Given the description of an element on the screen output the (x, y) to click on. 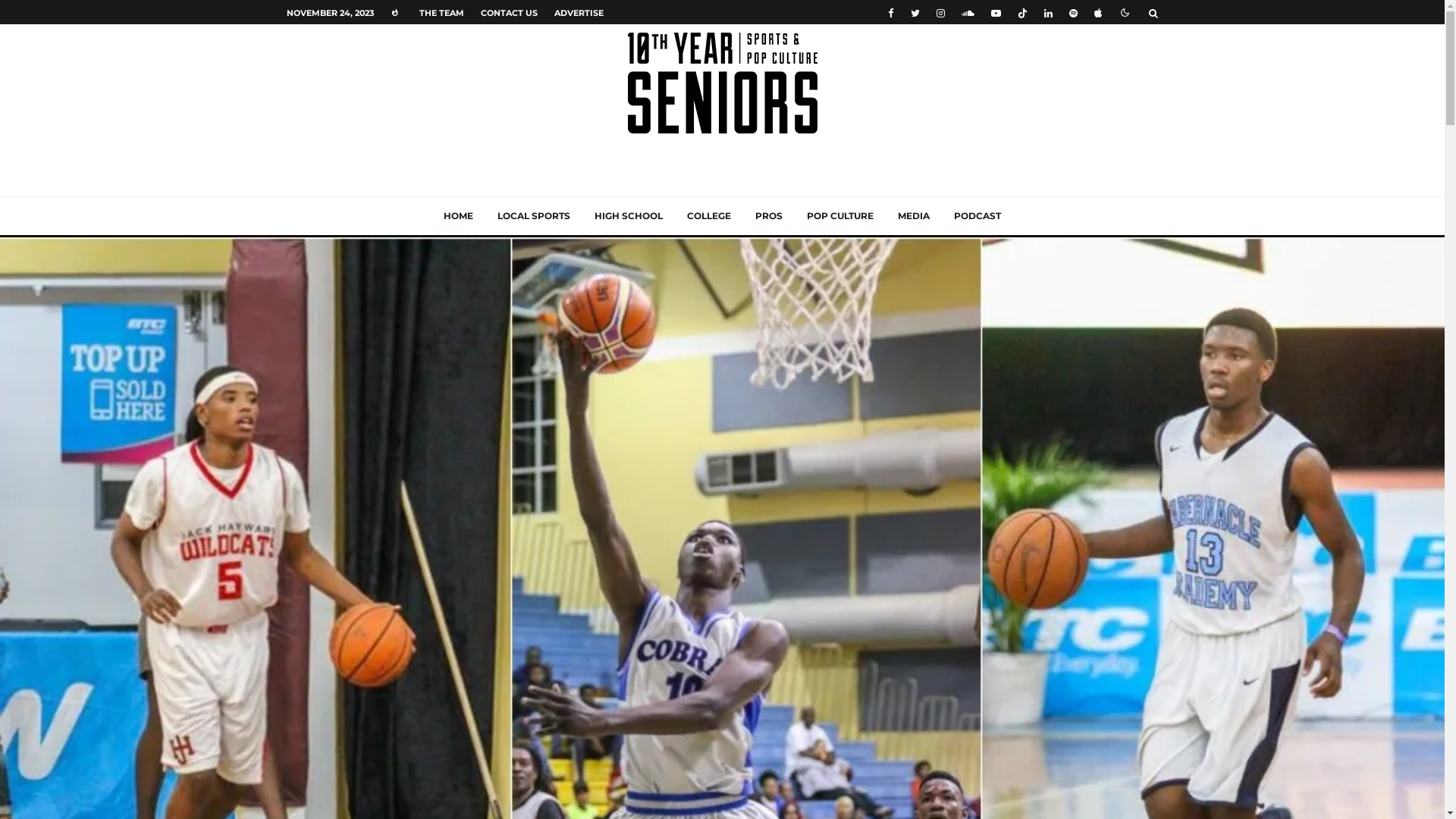
ADVERTISE Element type: text (578, 12)
HIGH SCHOOL Element type: text (628, 216)
COLLEGE Element type: text (708, 216)
PODCAST Element type: text (977, 216)
MEDIA Element type: text (913, 216)
POP CULTURE Element type: text (839, 216)
PROS Element type: text (768, 216)
CONTACT US Element type: text (508, 12)
HOME Element type: text (458, 216)
LOCAL SPORTS Element type: text (533, 216)
THE TEAM Element type: text (441, 12)
